Given the description of an element on the screen output the (x, y) to click on. 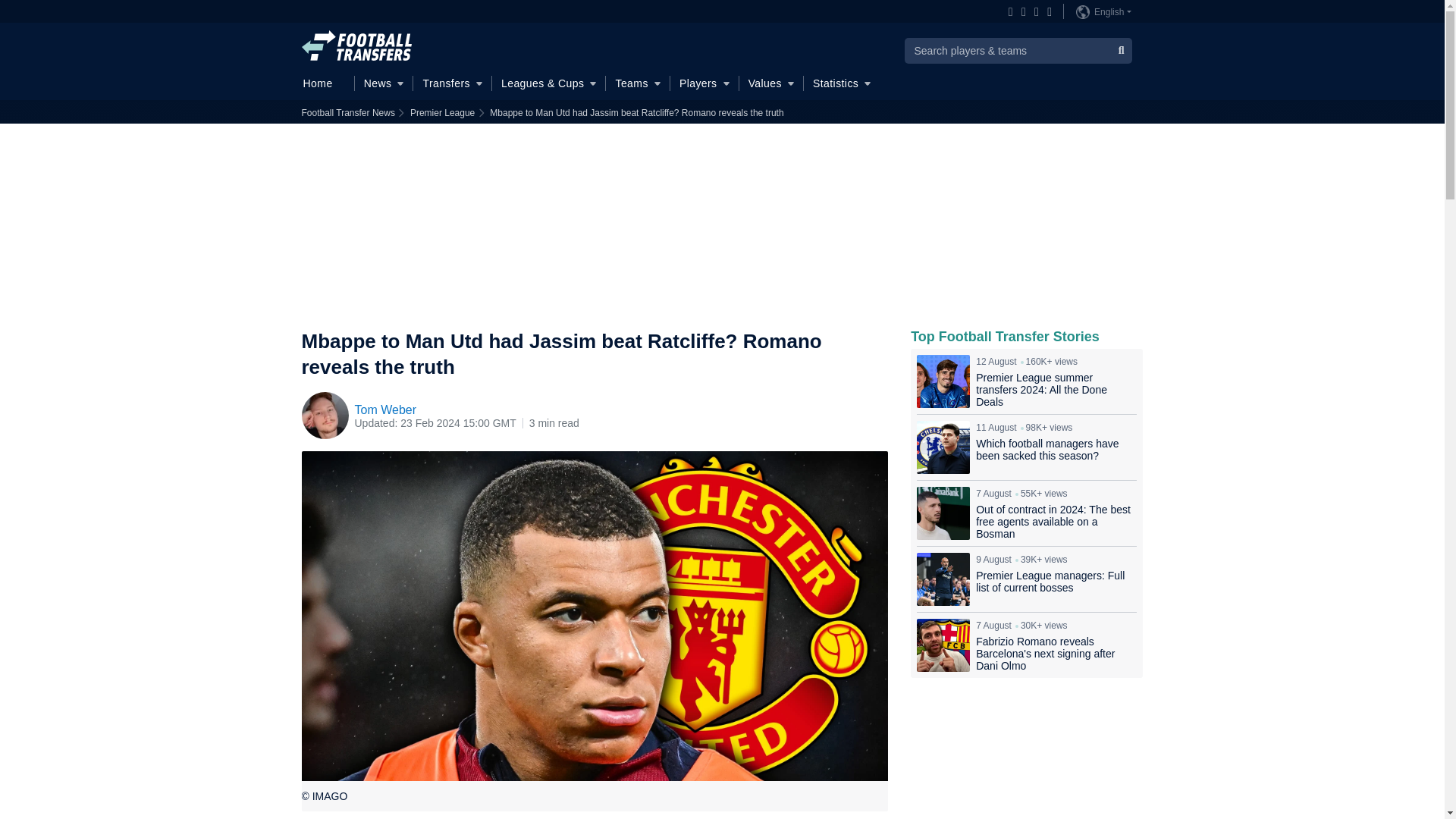
Home (323, 83)
News (384, 83)
Transfers (451, 83)
Our Twitter page (1033, 12)
Teams (636, 83)
News (384, 83)
Transfers (451, 83)
English (1103, 11)
Our LinkedIn page (1046, 12)
Our Instagram page (1020, 12)
